Given the description of an element on the screen output the (x, y) to click on. 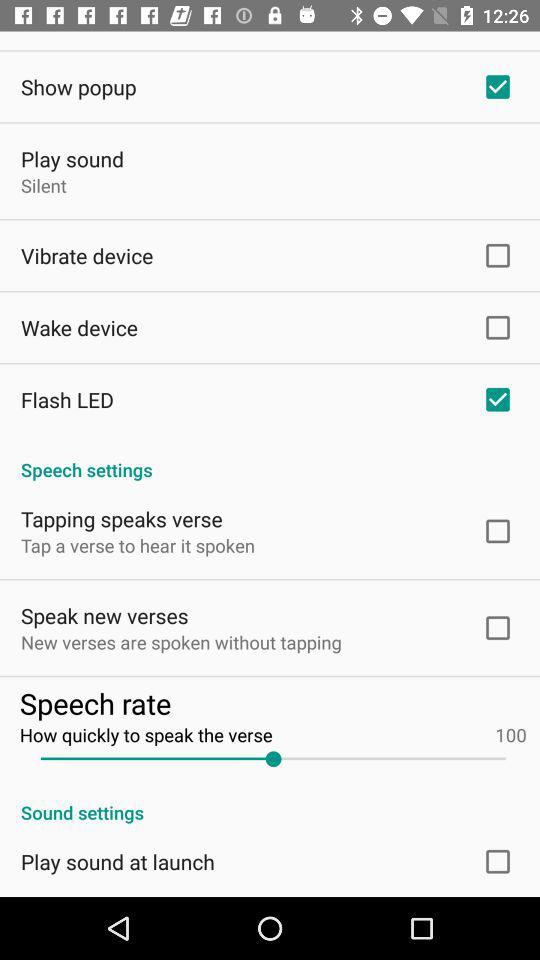
turn off icon below the tapping speaks verse app (137, 545)
